Given the description of an element on the screen output the (x, y) to click on. 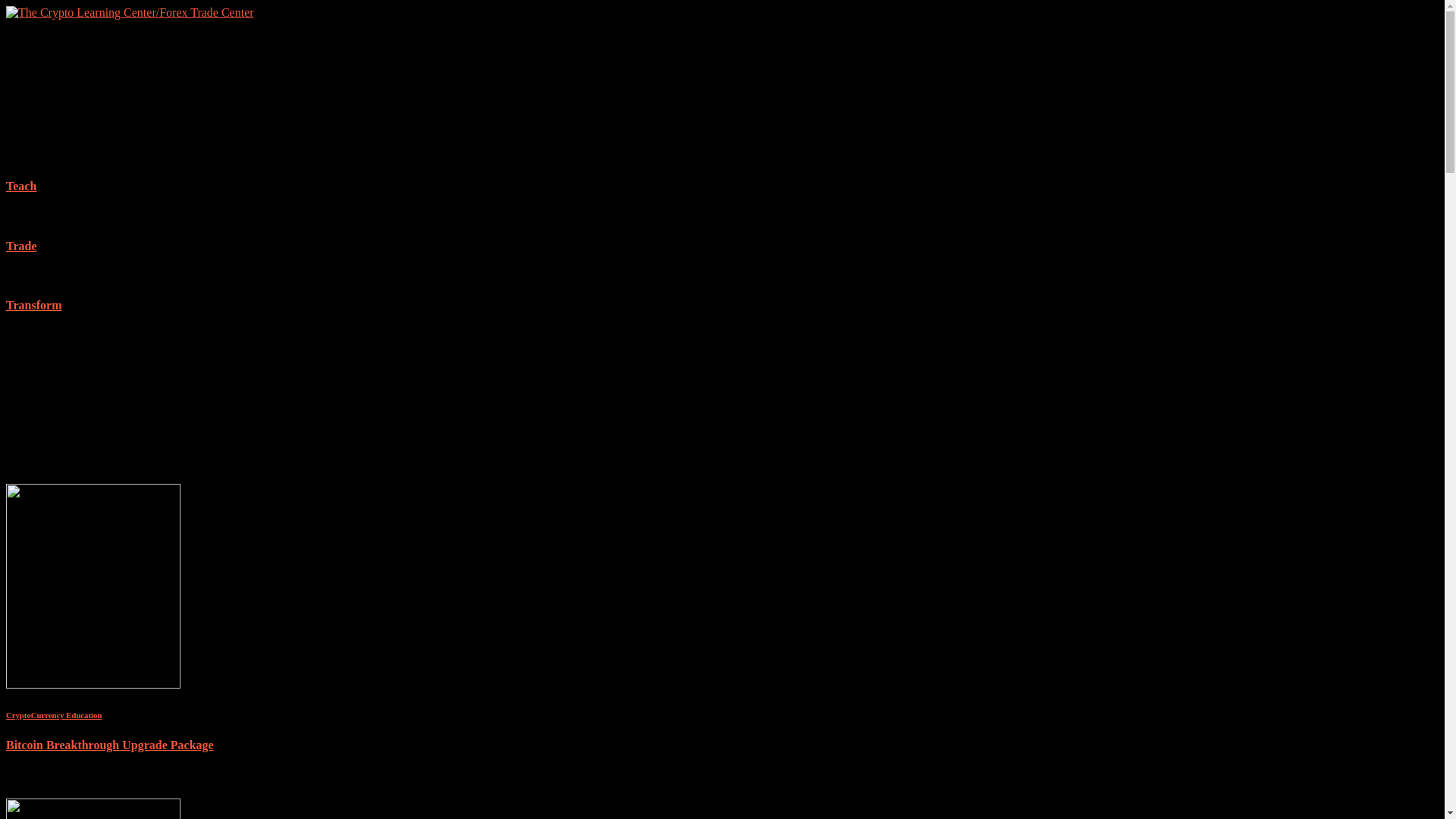
Teach Element type: text (722, 186)
CryptoCurrency Education Element type: text (53, 714)
Transform Element type: text (722, 305)
Trade Element type: text (722, 246)
Bitcoin Breakthrough Upgrade Package Element type: hover (93, 683)
Bitcoin Breakthrough Upgrade Package Element type: text (109, 744)
The Crypto Learning Center/Forex Trade Center Element type: hover (130, 12)
